Given the description of an element on the screen output the (x, y) to click on. 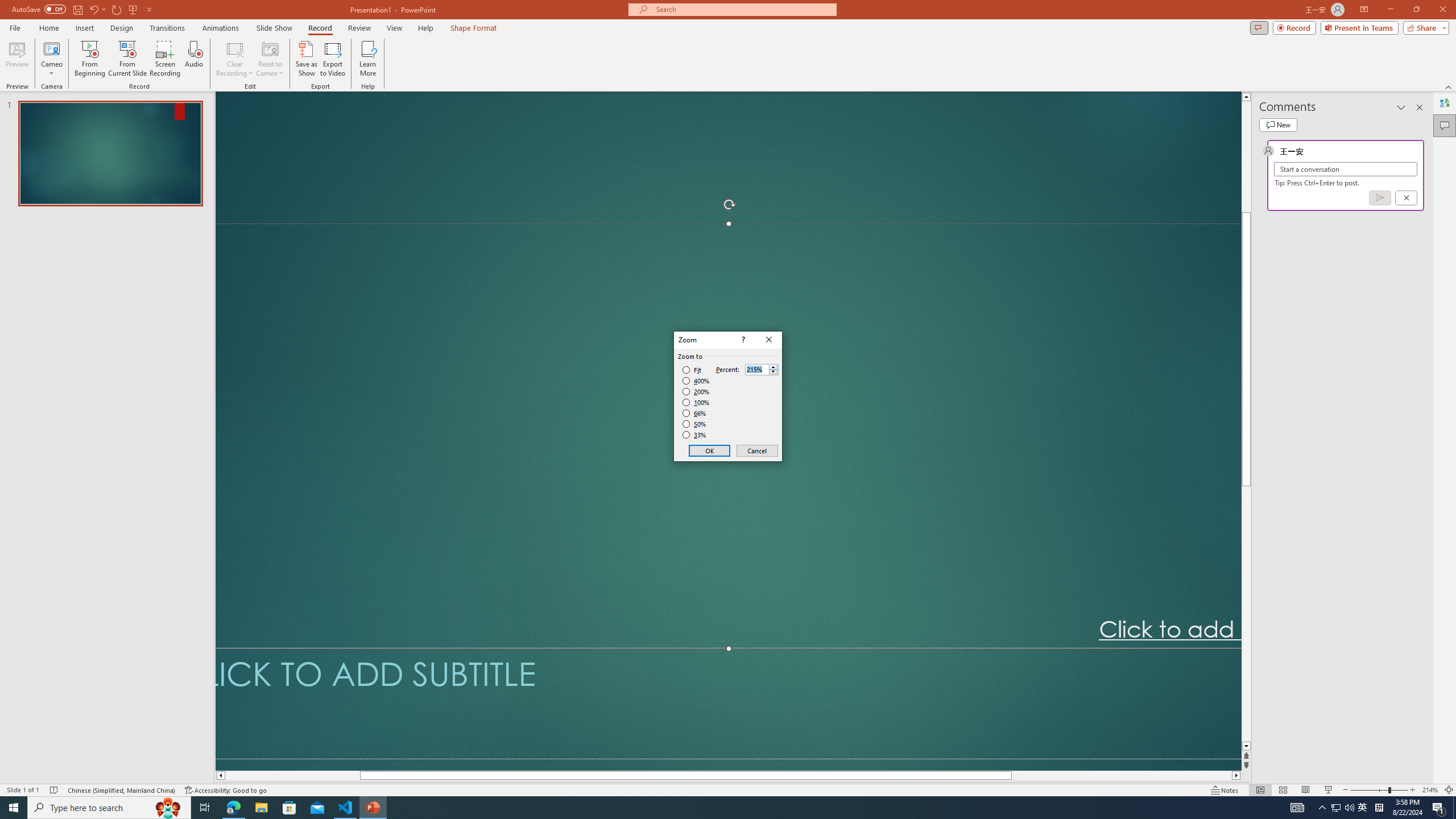
Less (772, 372)
From Current Slide... (127, 58)
Running applications (707, 807)
New comment (1278, 124)
Start a conversation (1344, 168)
Preview (17, 58)
